Given the description of an element on the screen output the (x, y) to click on. 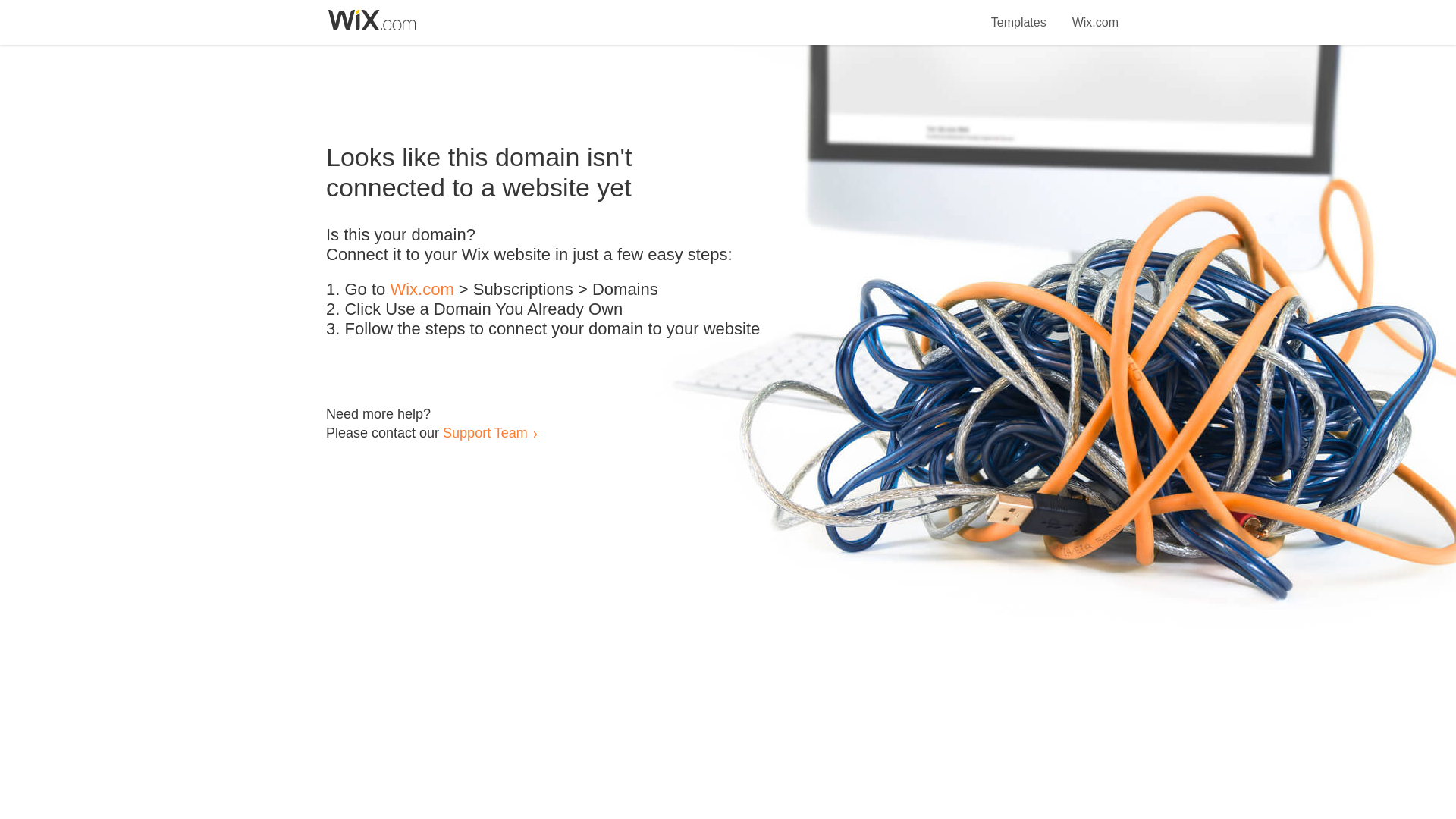
Templates (1018, 14)
Support Team (484, 432)
Wix.com (421, 289)
Wix.com (1095, 14)
